Given the description of an element on the screen output the (x, y) to click on. 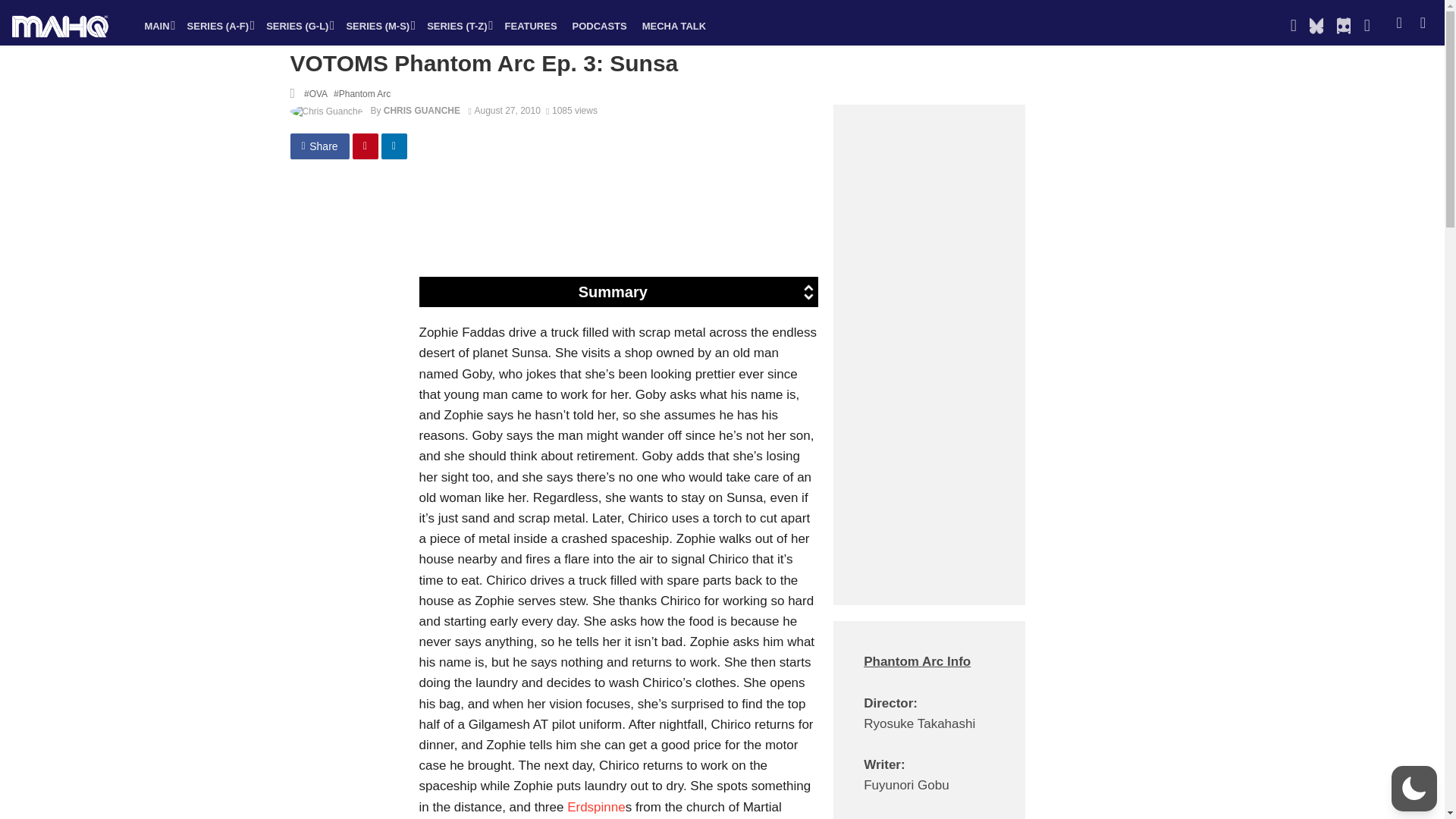
MAIN (157, 26)
Share on Pinterest (365, 145)
Posts by Chris Guanche (422, 110)
Share on Facebook (319, 145)
Share on Linkedin (394, 145)
August 27, 2010 at 6:26 pm (504, 110)
Advertisement (686, 223)
